Given the description of an element on the screen output the (x, y) to click on. 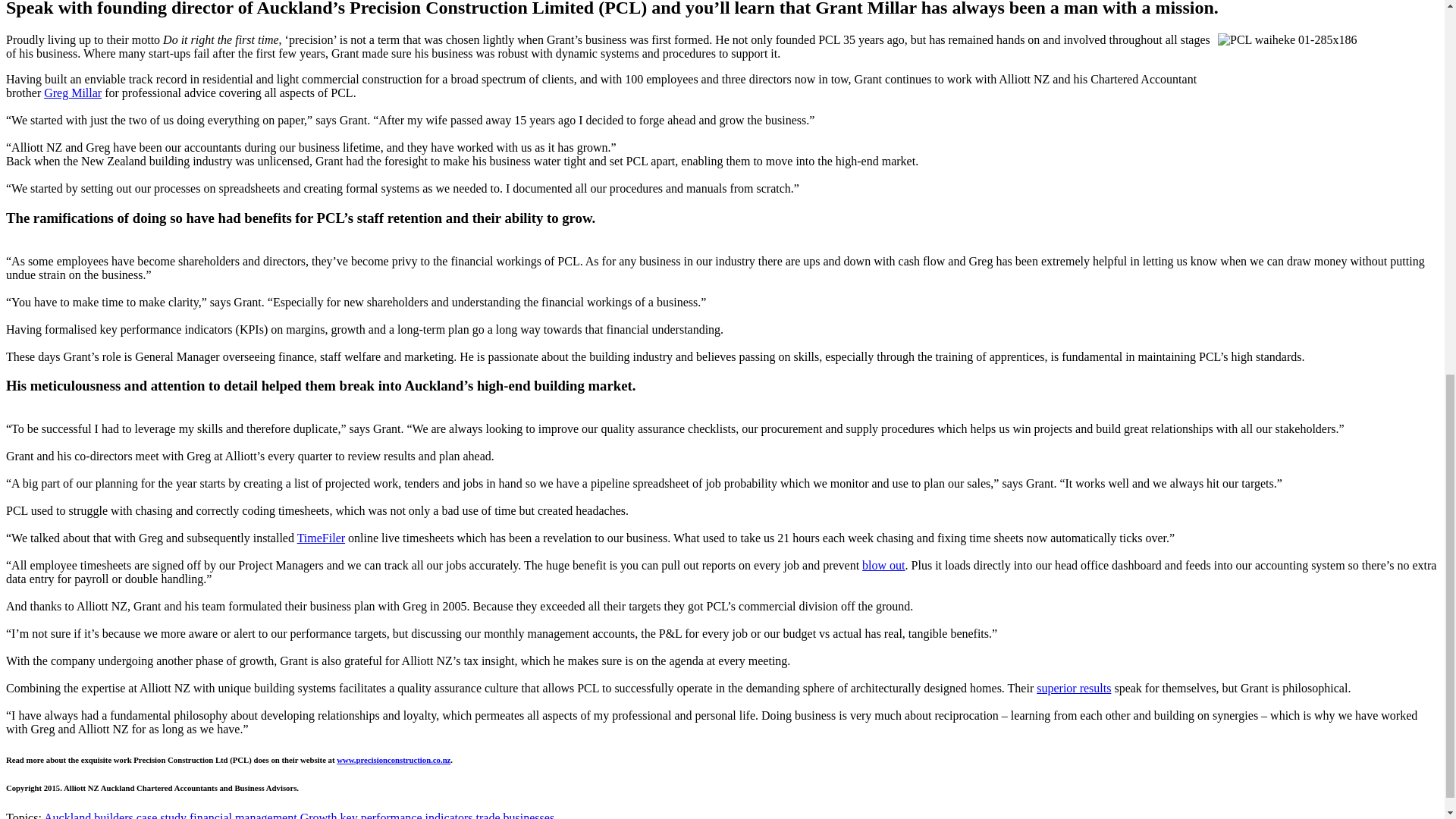
blow out (882, 564)
Greg Millar (72, 92)
TimeFiler (321, 537)
www.precisionconstruction.co.nz (392, 759)
superior results (1073, 687)
